Given the description of an element on the screen output the (x, y) to click on. 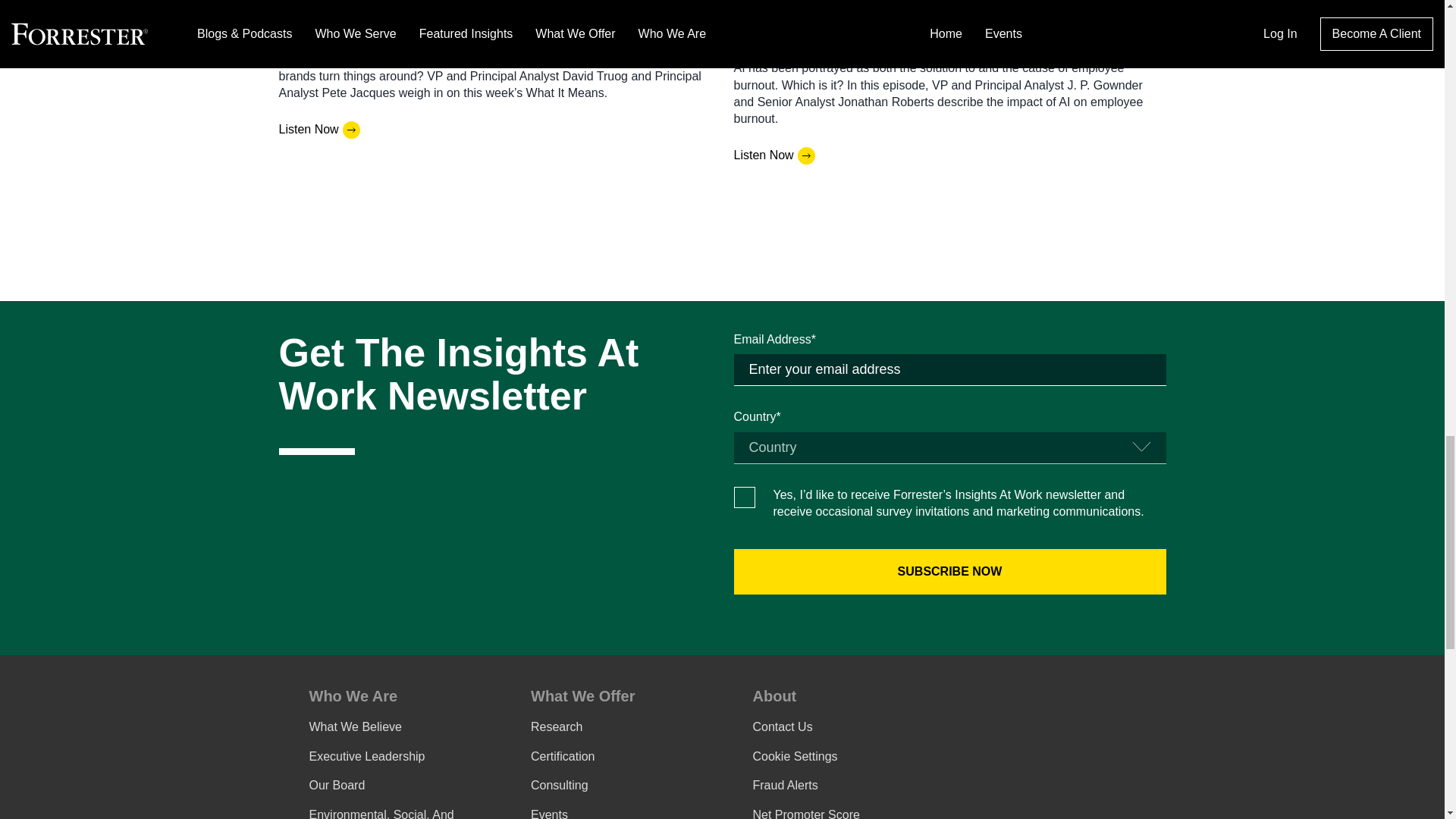
Subscribe Now (949, 571)
